Given the description of an element on the screen output the (x, y) to click on. 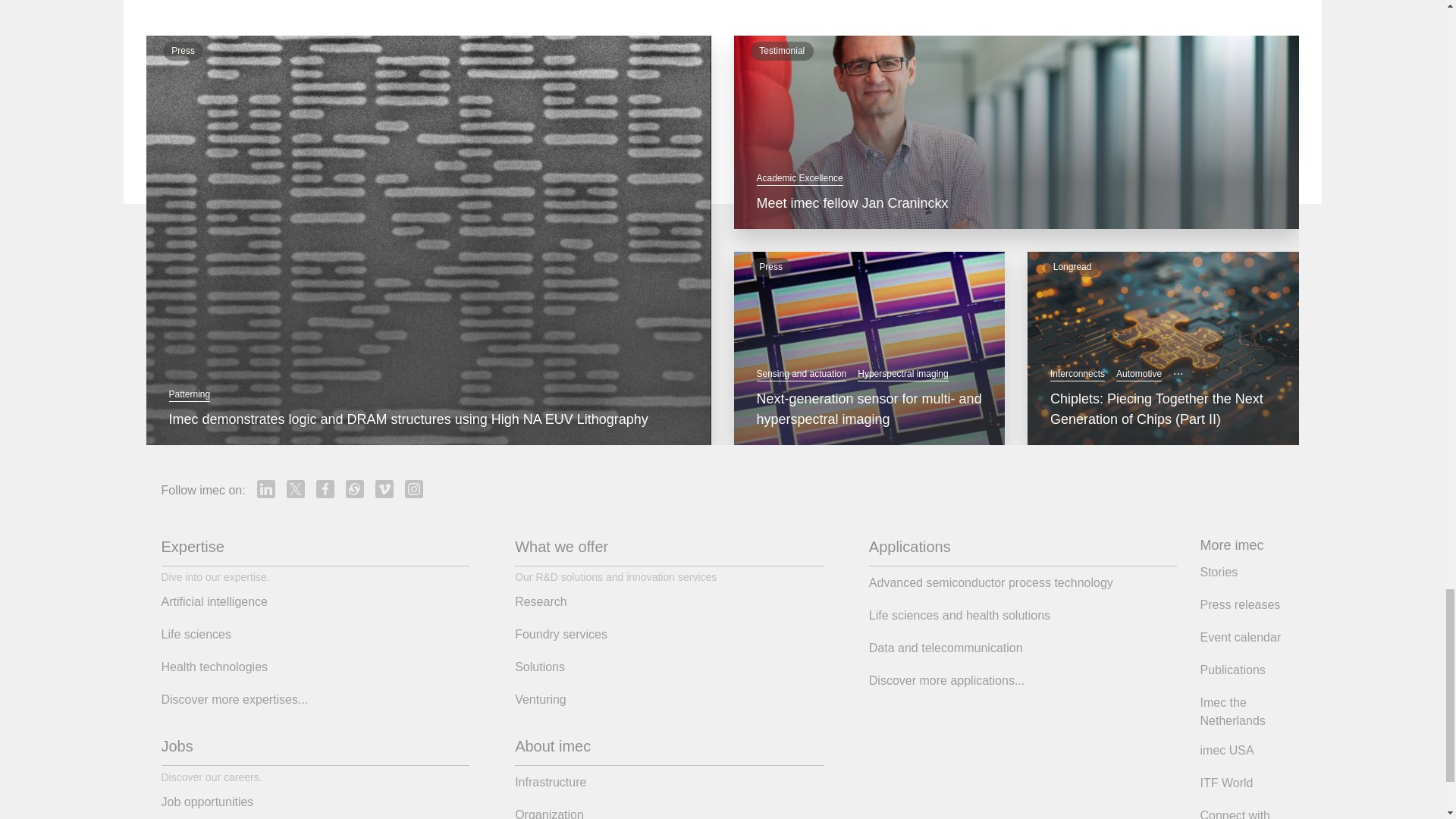
Interconnects (1077, 373)
Next-generation sensor for multi- and hyperspectral imaging (869, 409)
Vimeo (384, 488)
Sensing and actuation (802, 373)
Discover more (310, 2)
LinkedIn (266, 488)
Academic Excellence (800, 178)
Automotive (1138, 373)
Meet imec fellow Jan Craninckx (1016, 203)
Facebook (324, 488)
